Given the description of an element on the screen output the (x, y) to click on. 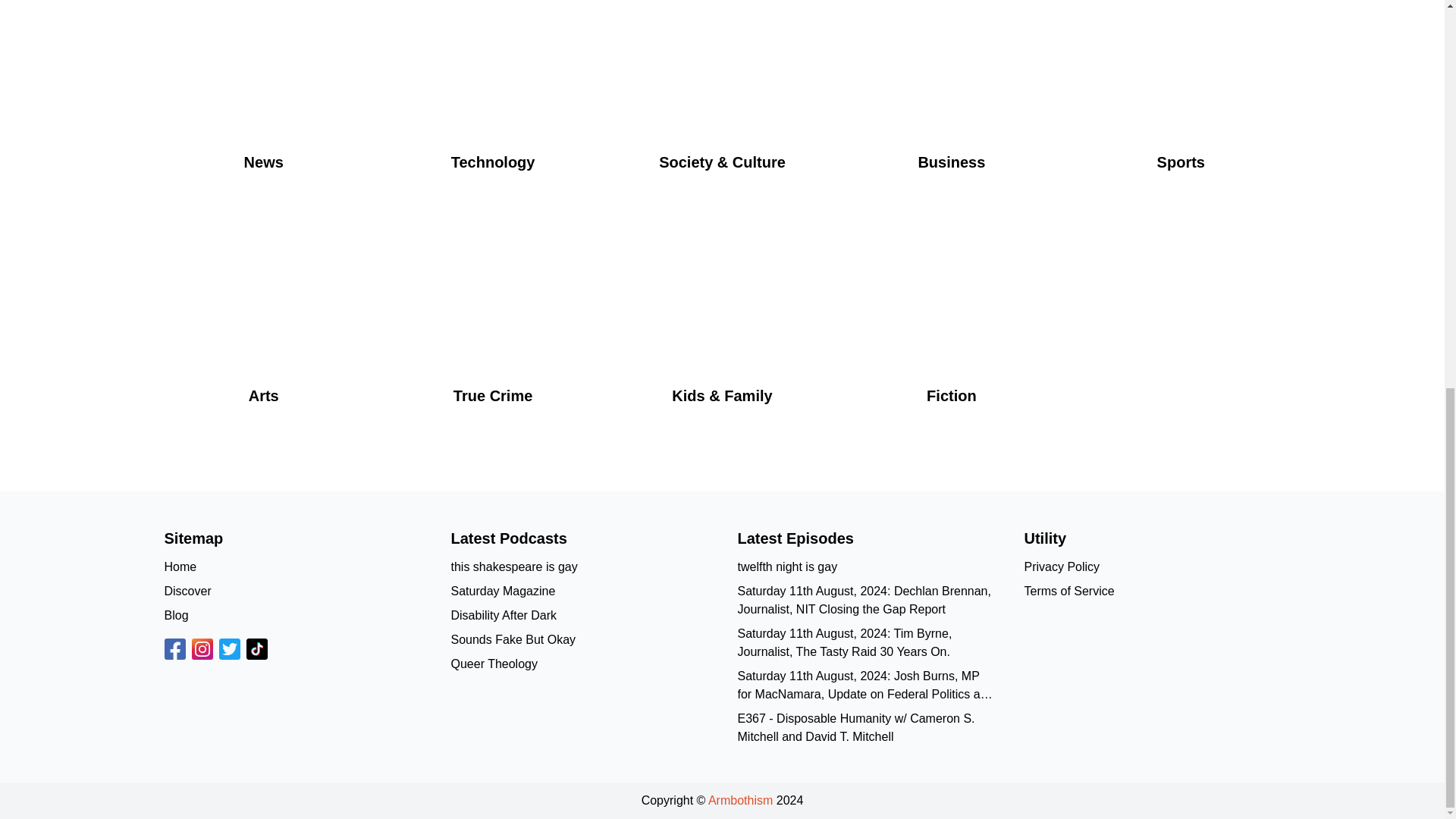
Business (951, 98)
Technology (492, 98)
News (262, 98)
True Crime (492, 328)
Discover (187, 590)
Sports (1180, 98)
Fiction (951, 328)
Home (179, 566)
Arts (262, 328)
